Given the description of an element on the screen output the (x, y) to click on. 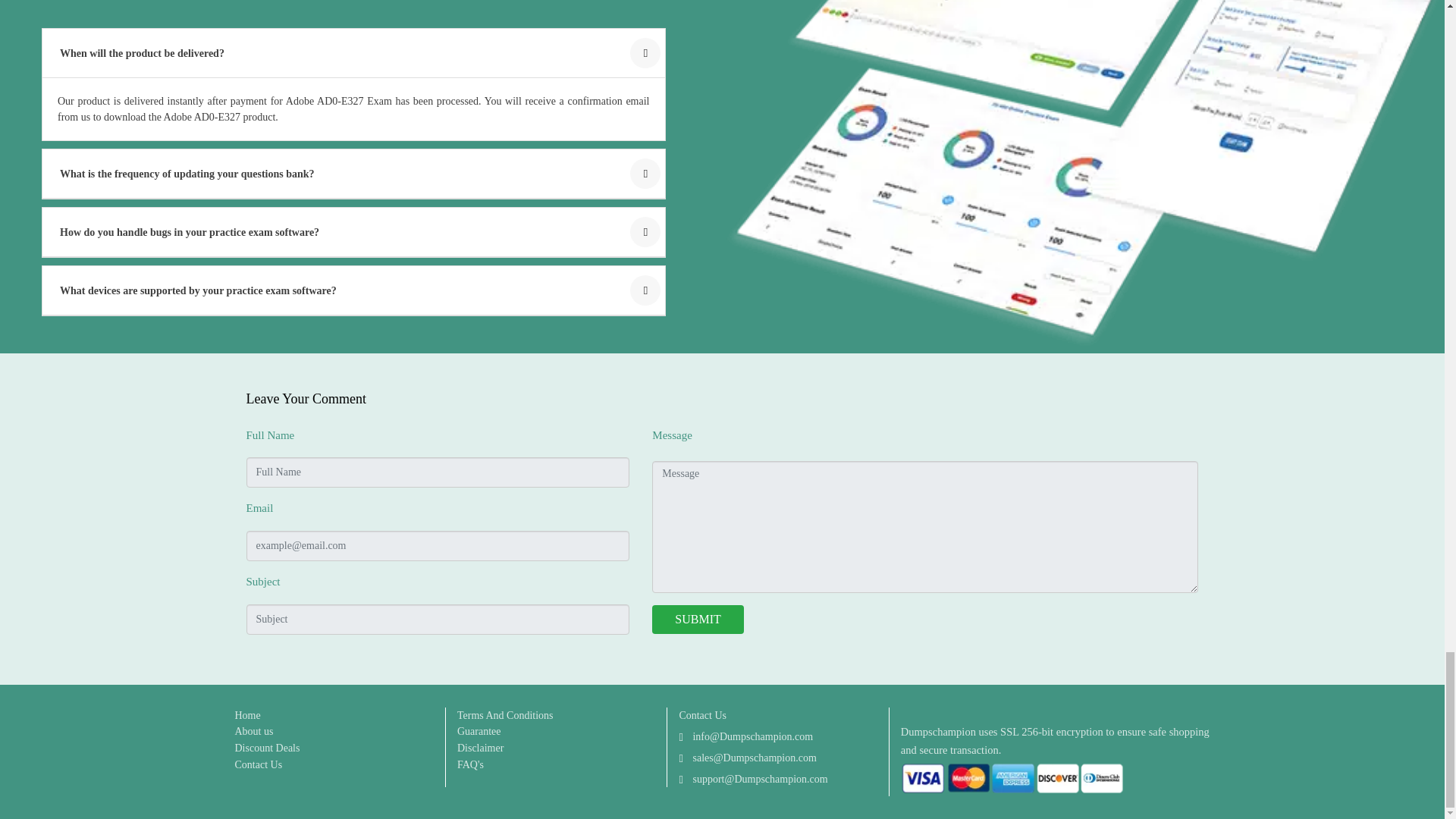
Guarantee (478, 731)
Home (247, 715)
Disclaimer (480, 747)
About us (253, 731)
Contact Us (258, 764)
SUBMIT (697, 619)
Terms And Conditions (505, 715)
Discount Deals (266, 747)
